Given the description of an element on the screen output the (x, y) to click on. 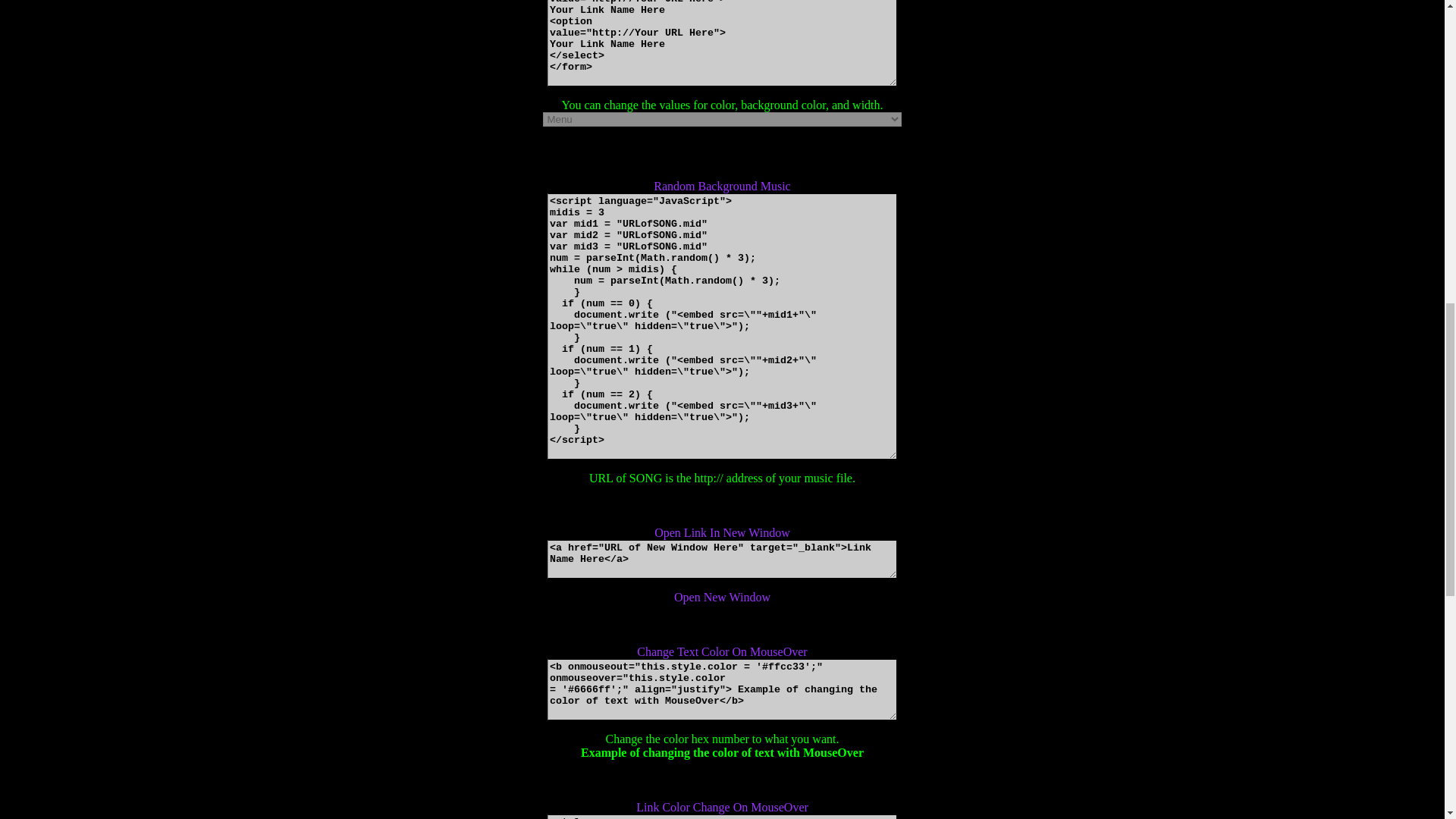
Open New Window (722, 596)
